Given the description of an element on the screen output the (x, y) to click on. 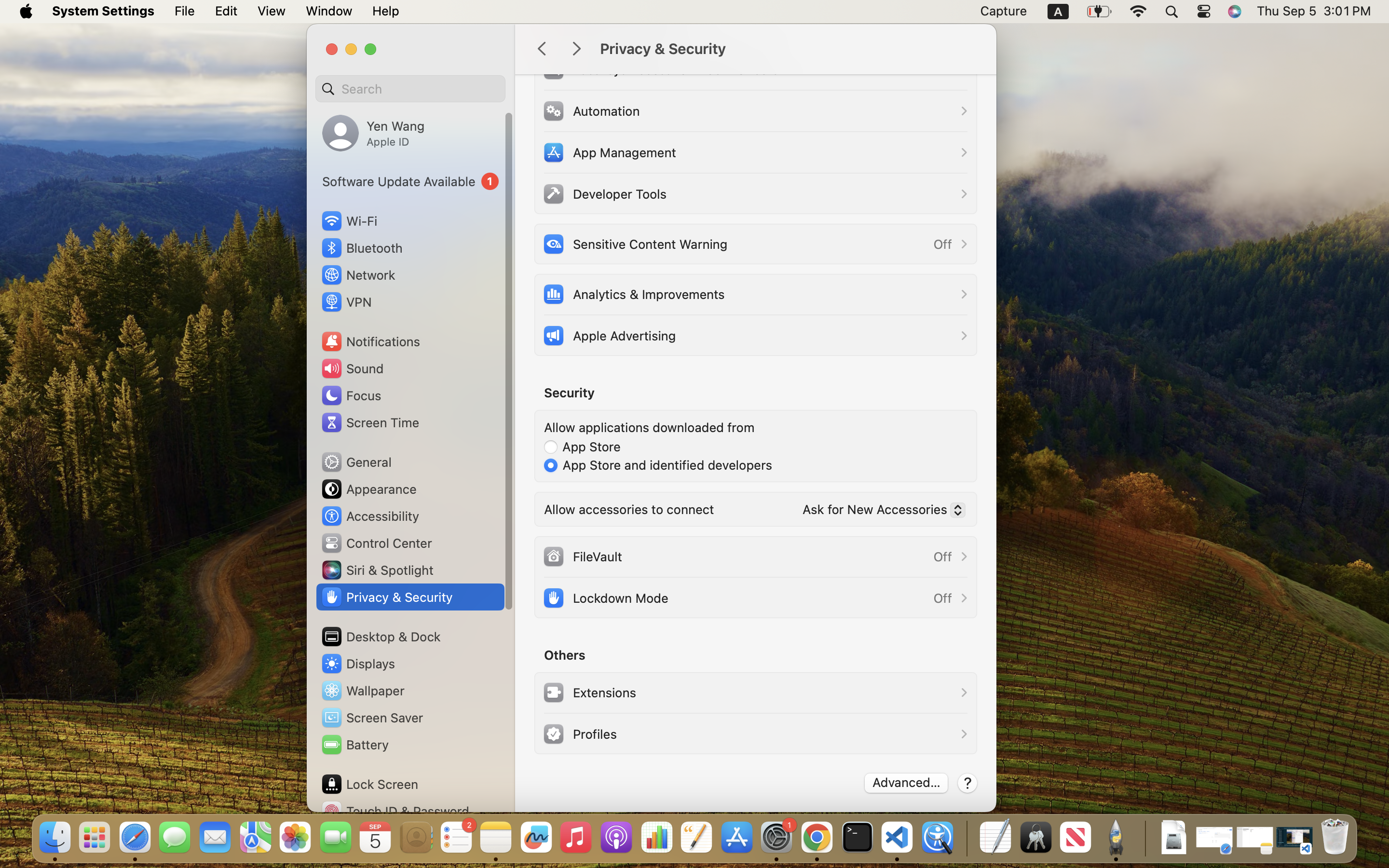
Ask for New Accessories Element type: AXPopUpButton (880, 511)
Allow accessories to connect Element type: AXStaticText (628, 508)
Displays Element type: AXStaticText (357, 663)
Siri & Spotlight Element type: AXStaticText (376, 569)
